Given the description of an element on the screen output the (x, y) to click on. 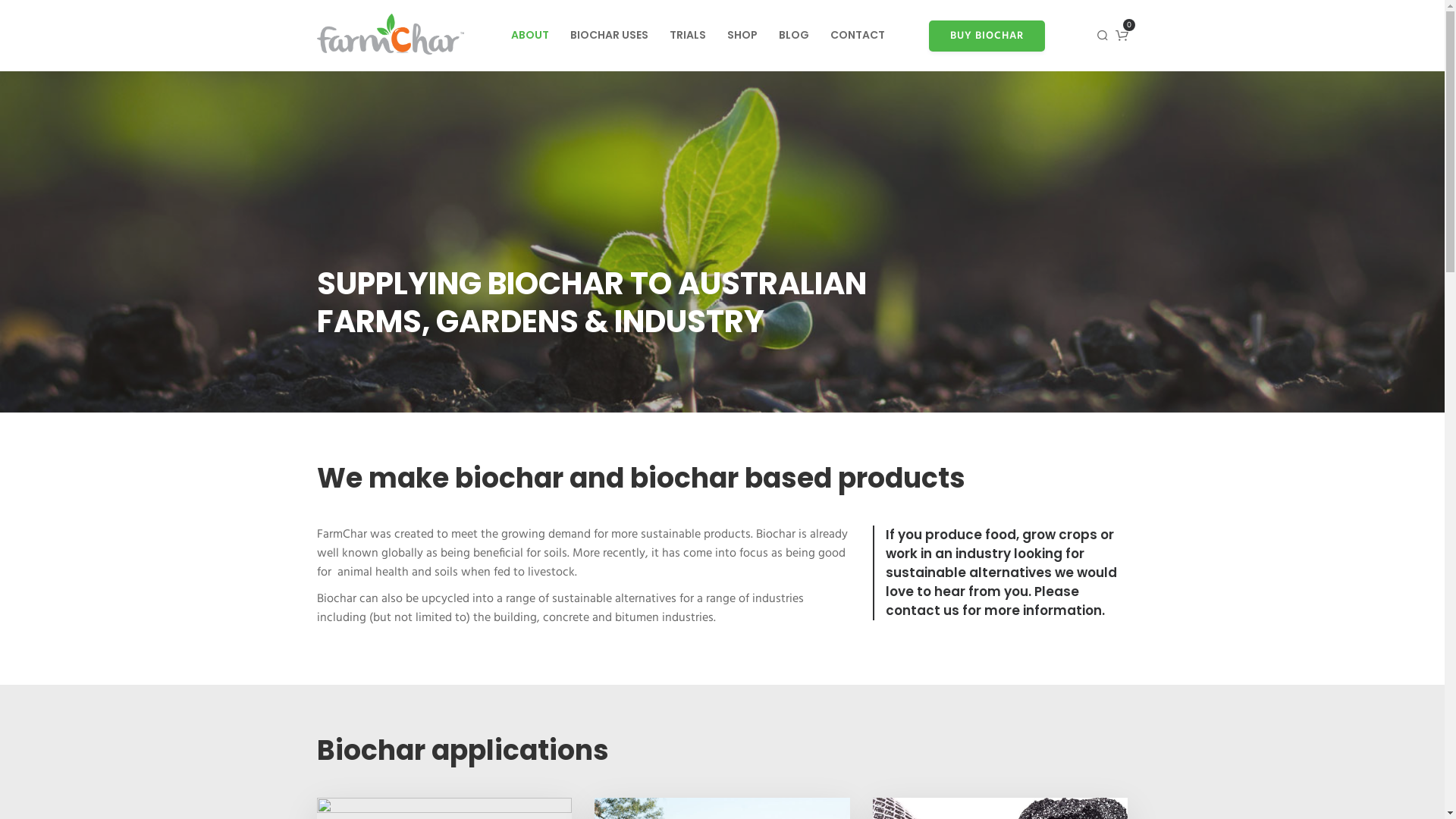
SHOP Element type: text (741, 34)
BUY BIOCHAR Element type: text (986, 34)
ABOUT Element type: text (530, 34)
BIOCHAR USES Element type: text (609, 34)
0 Element type: text (1121, 36)
TRIALS Element type: text (686, 34)
CONTACT Element type: text (856, 34)
BLOG Element type: text (793, 34)
